Given the description of an element on the screen output the (x, y) to click on. 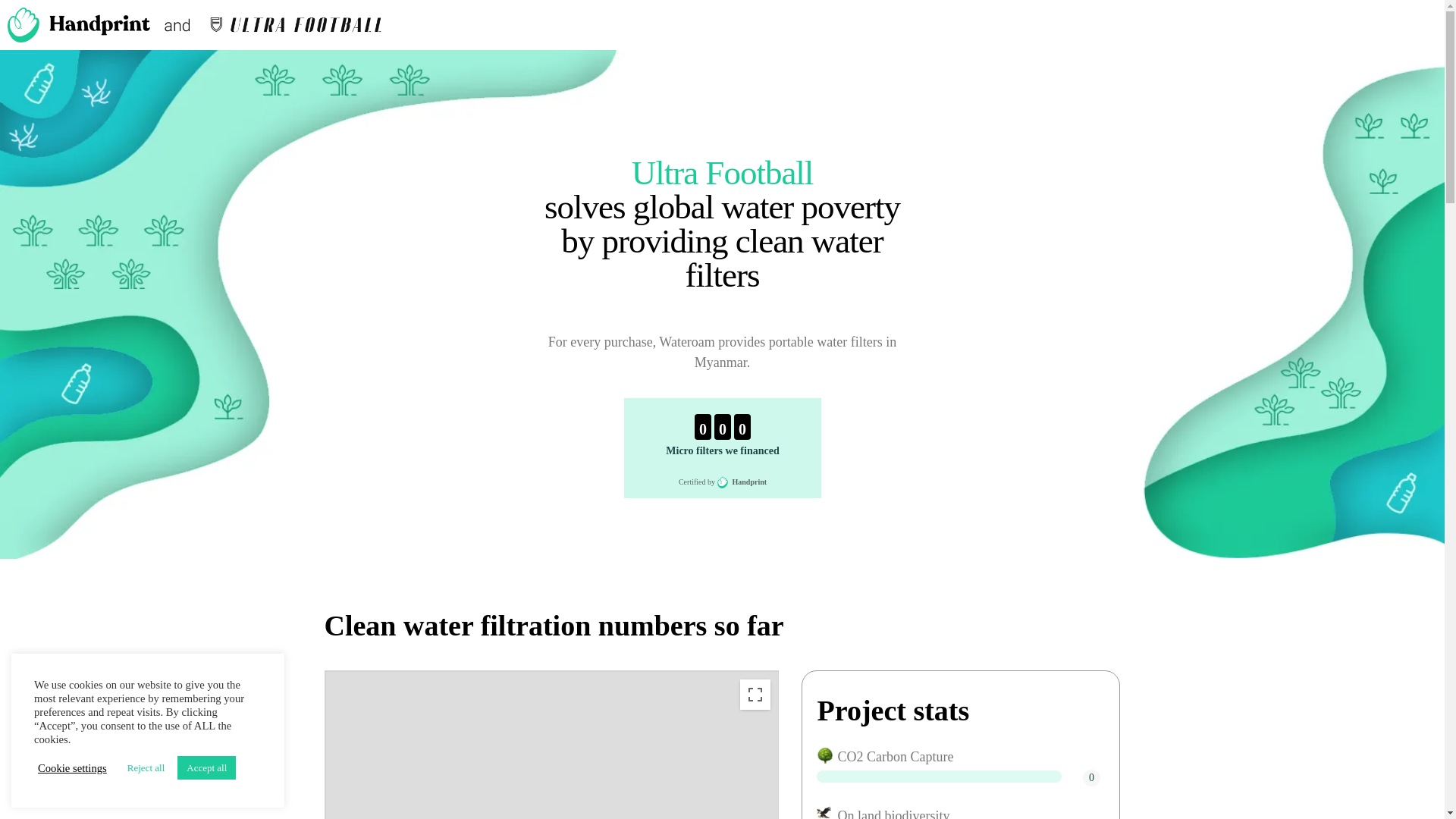
Cookie settings (71, 767)
Ultra Football (722, 172)
Accept all (206, 767)
On land biodiversity (824, 812)
Reject all (145, 767)
CO2 Carbon Capture (824, 754)
